Given the description of an element on the screen output the (x, y) to click on. 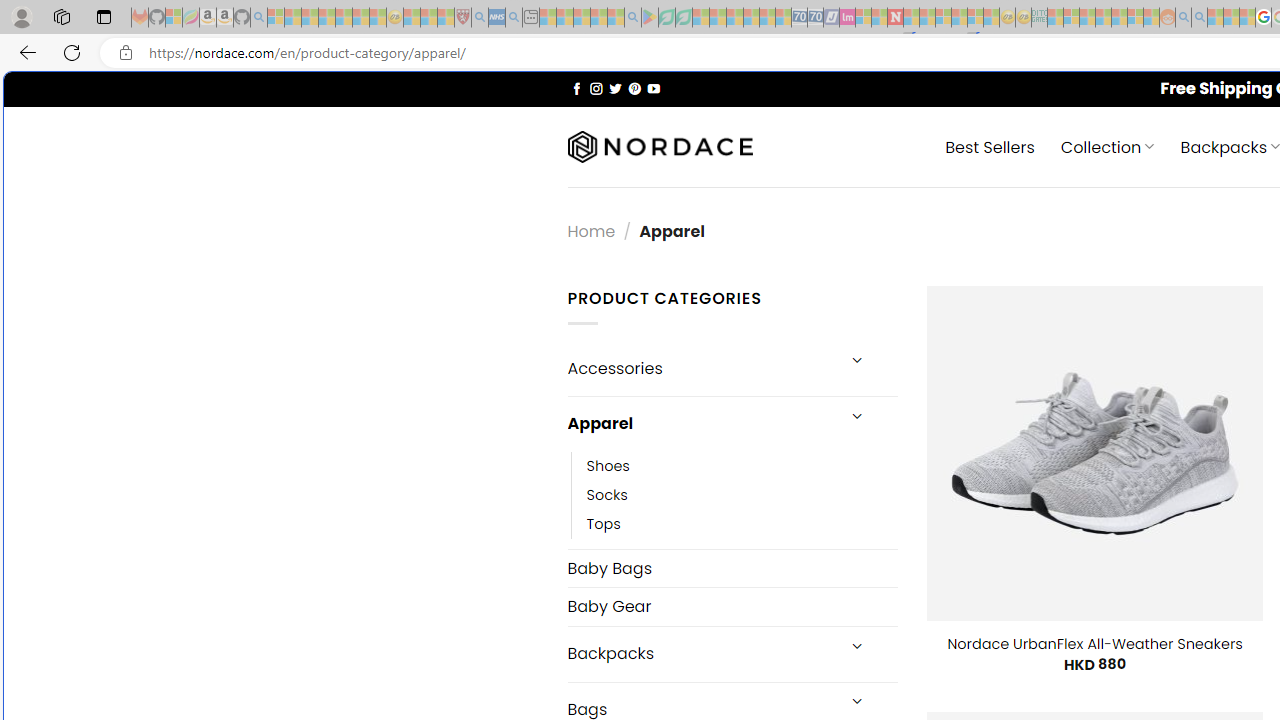
Follow on Facebook (576, 88)
Socks (742, 494)
Nordace UrbanFlex All-Weather Sneakers (1094, 643)
